Given the description of an element on the screen output the (x, y) to click on. 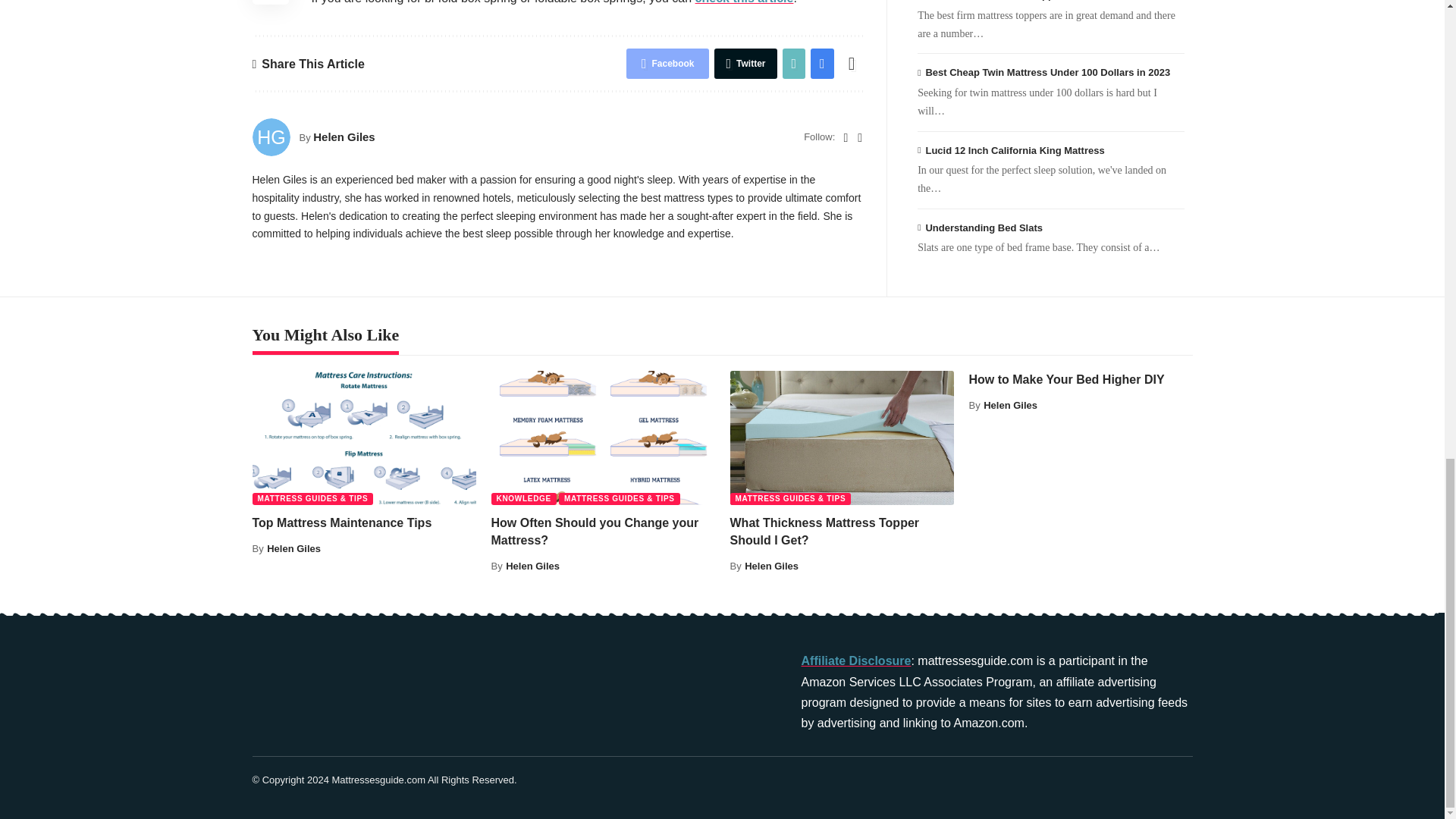
What Thickness Mattress Topper Should I Get? (841, 438)
Top Mattress Maintenance Tips (363, 438)
How Often Should you Change your Mattress? (603, 438)
